Given the description of an element on the screen output the (x, y) to click on. 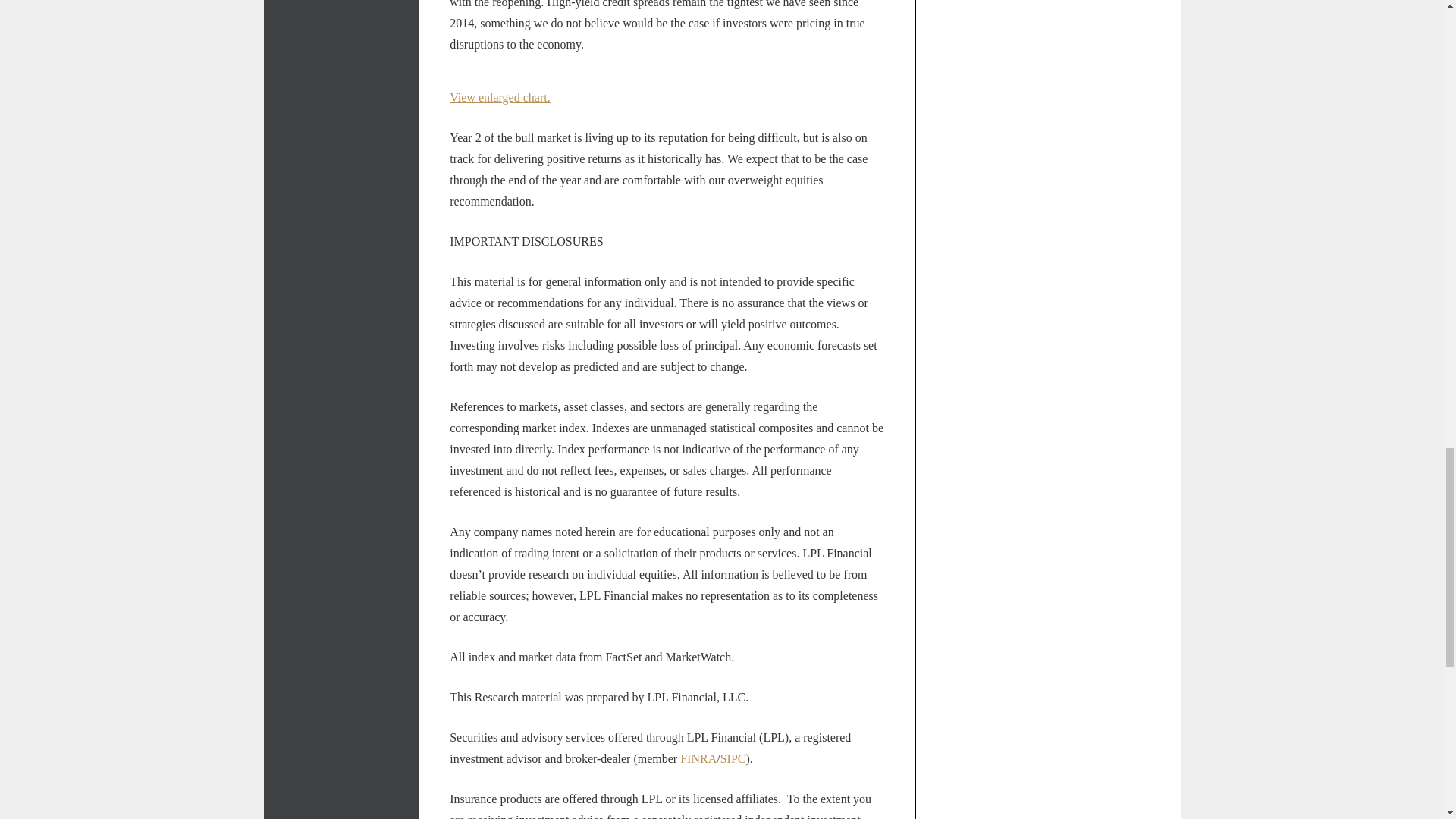
SIPC (732, 758)
FINRA (697, 758)
View enlarged chart. (499, 97)
